Given the description of an element on the screen output the (x, y) to click on. 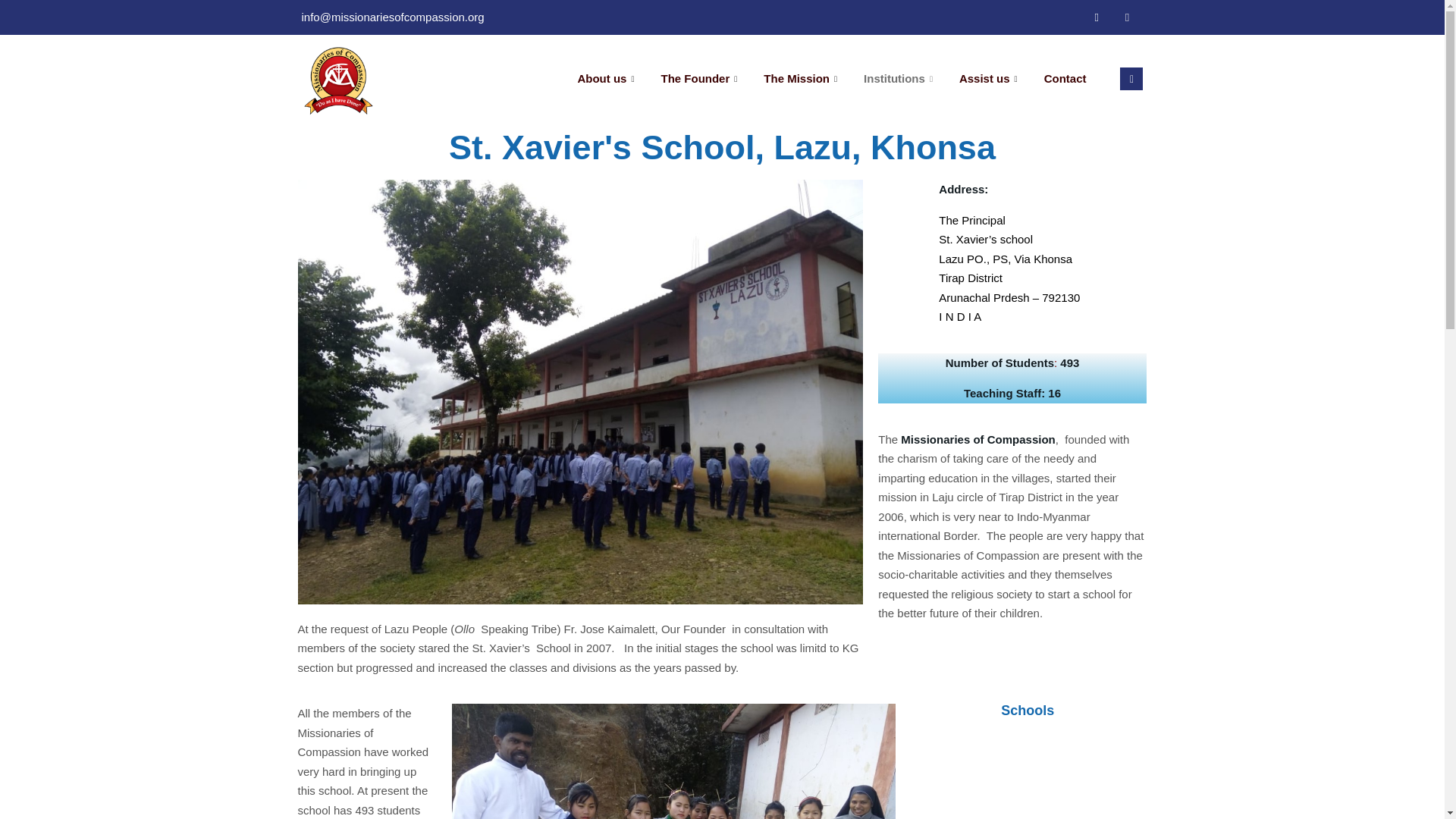
Institutions (899, 78)
The Founder (700, 78)
About us (607, 78)
The Mission (801, 78)
